Given the description of an element on the screen output the (x, y) to click on. 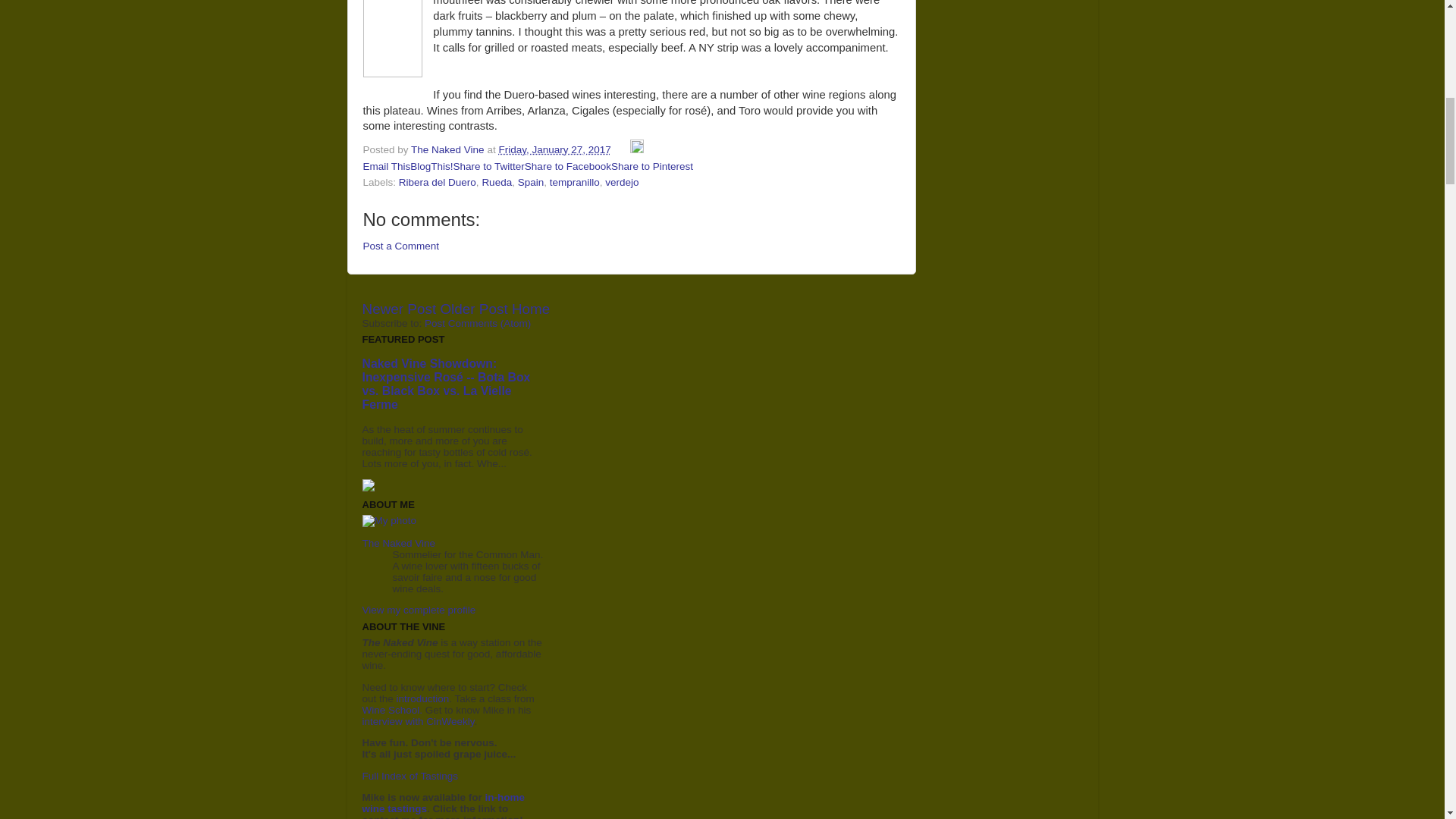
Newer Post (399, 308)
BlogThis! (431, 165)
in-home wine tastings (443, 802)
Share to Pinterest (652, 165)
author profile (448, 149)
verdejo (622, 182)
Rueda (496, 182)
BlogThis! (431, 165)
Spain (531, 182)
Ribera del Duero (437, 182)
tempranillo (574, 182)
Email Post (622, 149)
Share to Facebook (567, 165)
introduction (422, 698)
Home (531, 308)
